Given the description of an element on the screen output the (x, y) to click on. 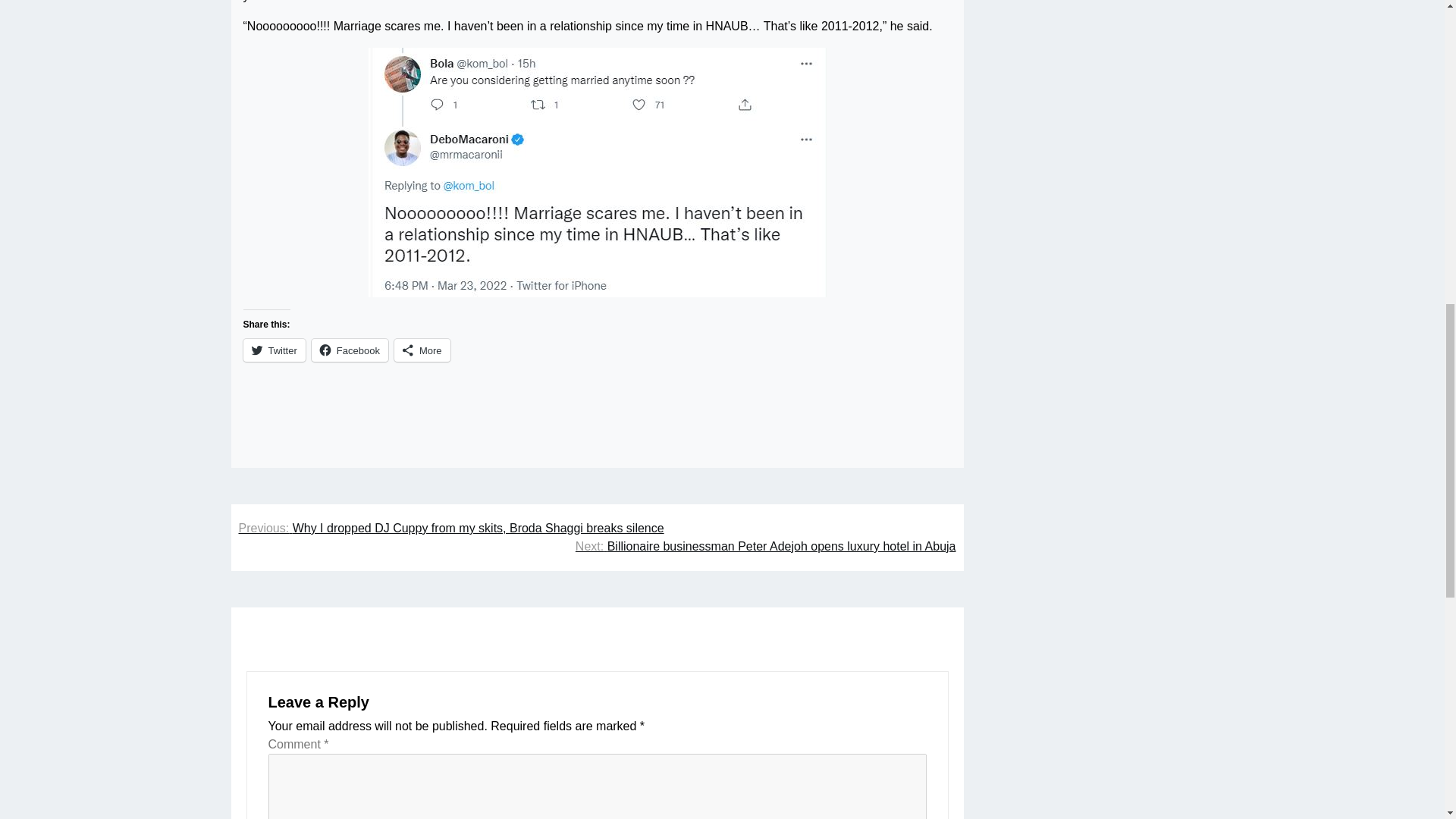
Click to share on Twitter (273, 350)
Click to share on Facebook (349, 350)
More (421, 350)
Twitter (273, 350)
Facebook (349, 350)
